Given the description of an element on the screen output the (x, y) to click on. 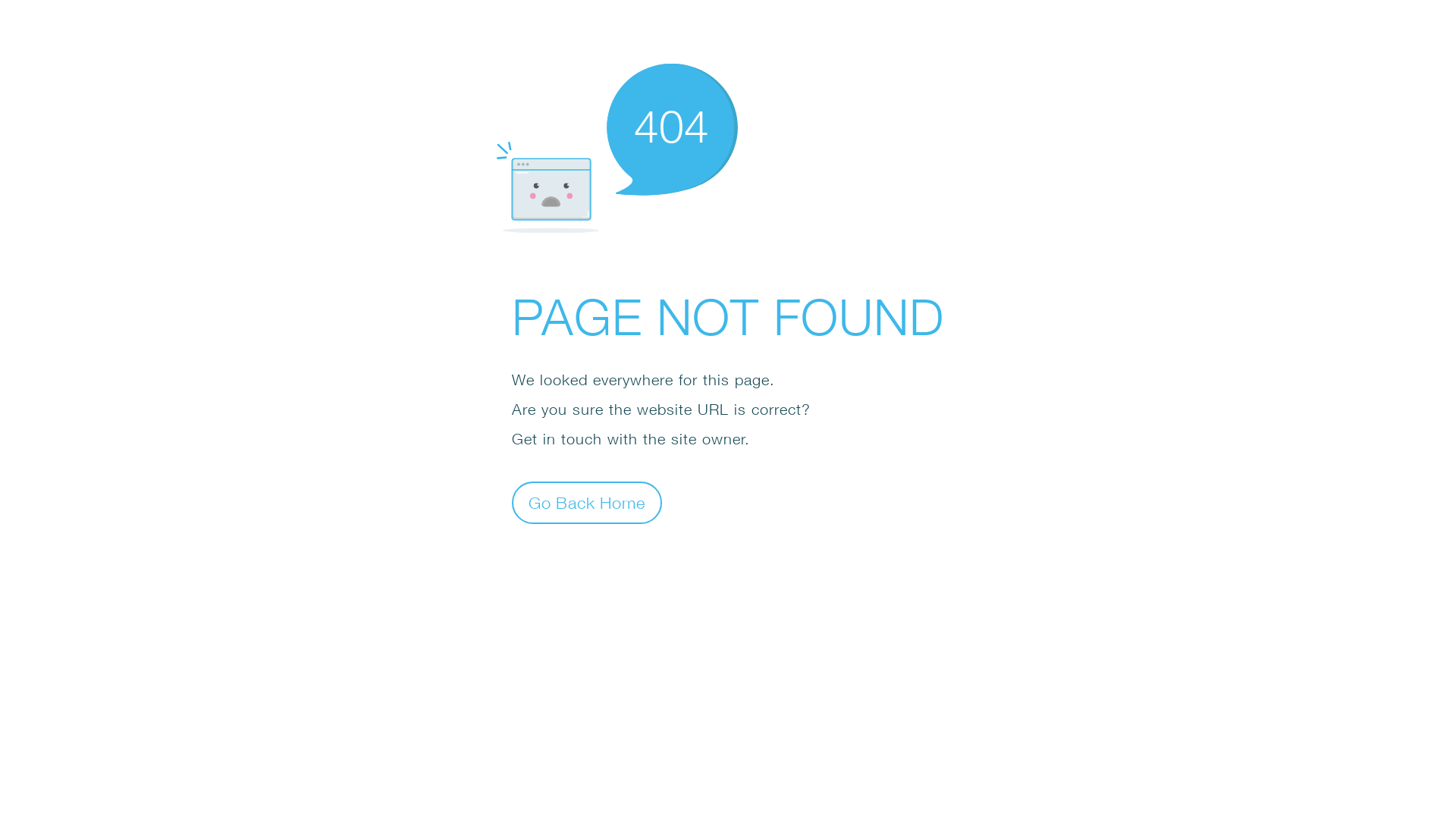
Go Back Home Element type: text (586, 502)
